Given the description of an element on the screen output the (x, y) to click on. 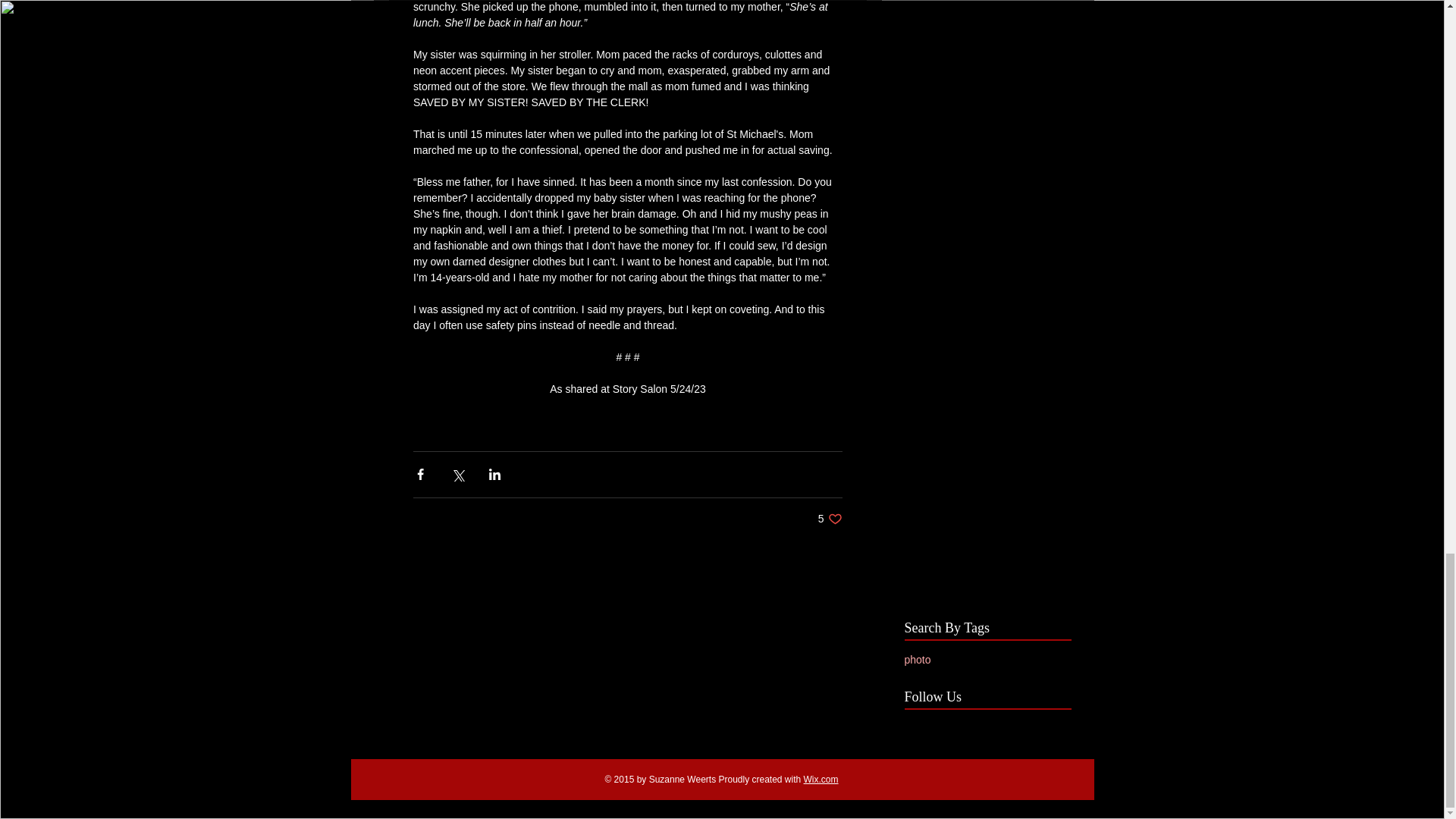
Wix.com (830, 518)
photo (820, 778)
